Given the description of an element on the screen output the (x, y) to click on. 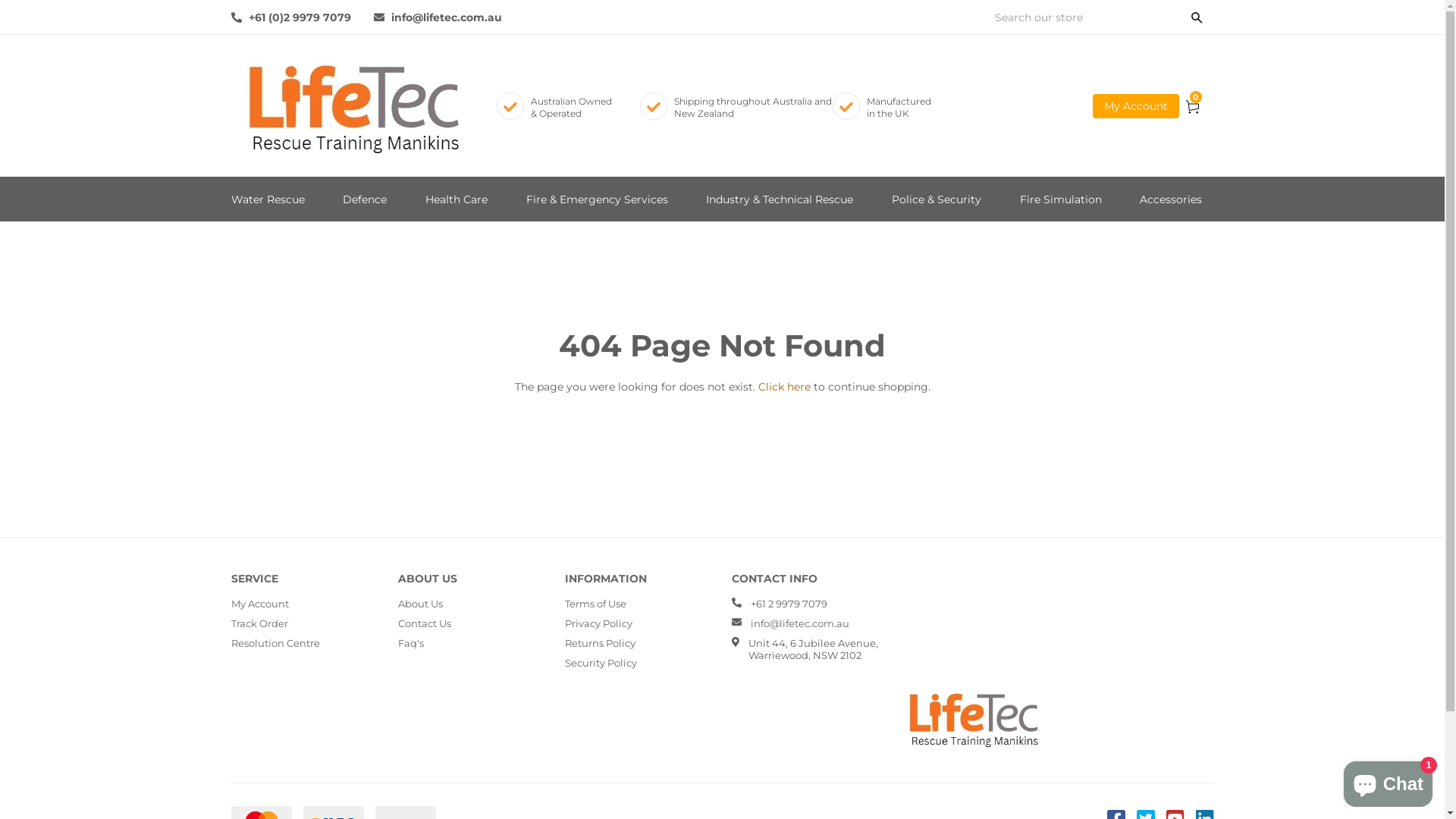
0 Element type: text (1188, 106)
Fire Simulation Element type: text (1060, 199)
Health Care Element type: text (456, 199)
Fire & Emergency Services Element type: text (597, 199)
Industry & Technical Rescue Element type: text (779, 199)
Returns Policy Element type: text (599, 643)
info@lifetec.com.au Element type: text (799, 623)
Water Rescue Element type: text (267, 199)
Security Policy Element type: text (600, 662)
Terms of Use Element type: text (594, 603)
Track Order Element type: text (258, 623)
My Account Element type: text (259, 603)
Police & Security Element type: text (936, 199)
Shopify online store chat Element type: hover (1388, 780)
My Account Element type: text (1135, 106)
info@lifetec.com.au Element type: text (437, 17)
Defence Element type: text (364, 199)
Resolution Centre Element type: text (274, 643)
Faq's Element type: text (410, 643)
Contact Us Element type: text (423, 623)
Click here Element type: text (784, 386)
About Us Element type: text (419, 603)
+61 (0)2 9979 7079 Element type: text (290, 17)
Search Element type: text (1196, 17)
Accessories Element type: text (1170, 199)
Privacy Policy Element type: text (597, 623)
